Given the description of an element on the screen output the (x, y) to click on. 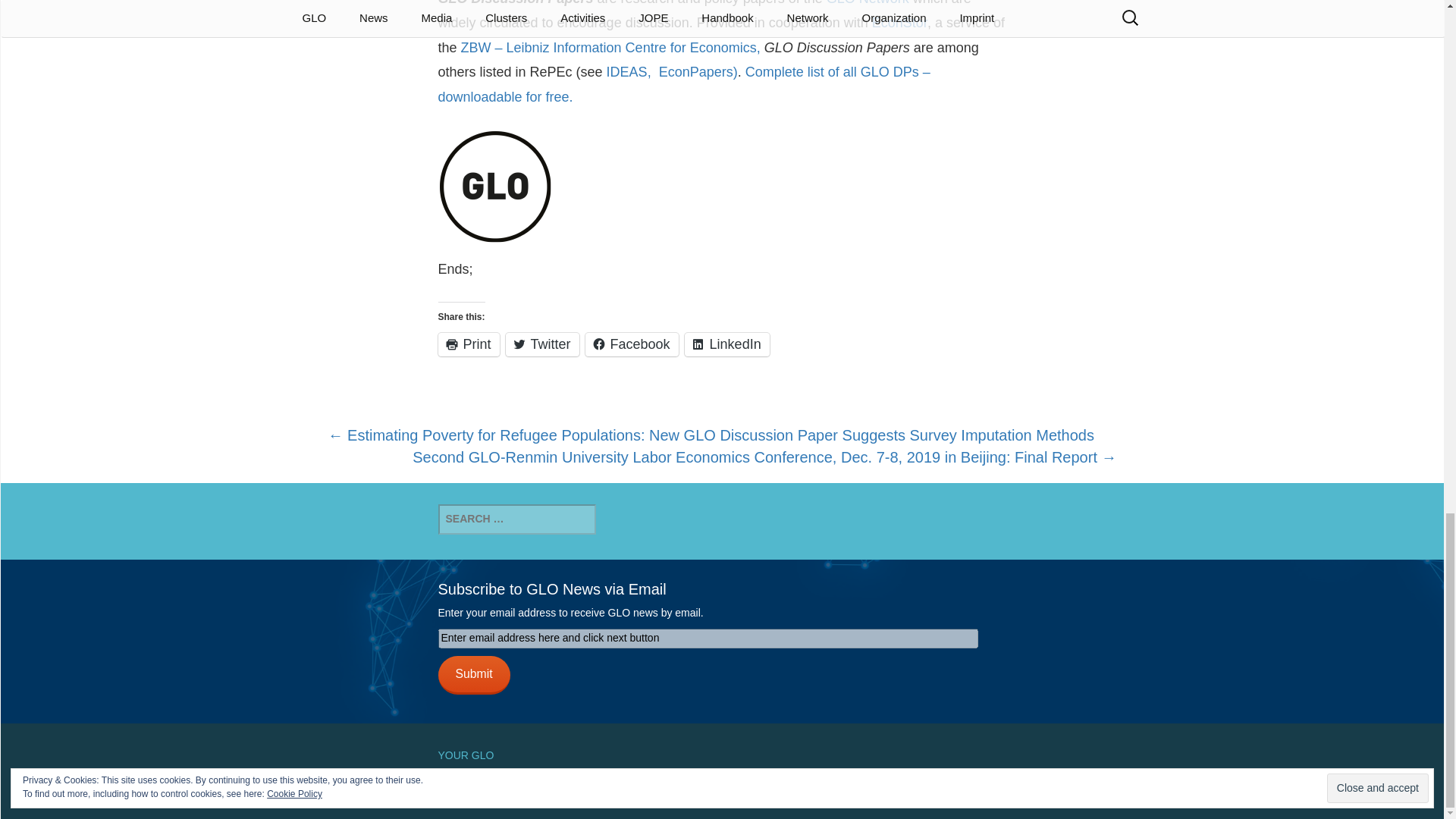
Click to share on LinkedIn (727, 344)
Click to share on Facebook (631, 344)
Click to share on Twitter (542, 344)
Click to print (468, 344)
